Given the description of an element on the screen output the (x, y) to click on. 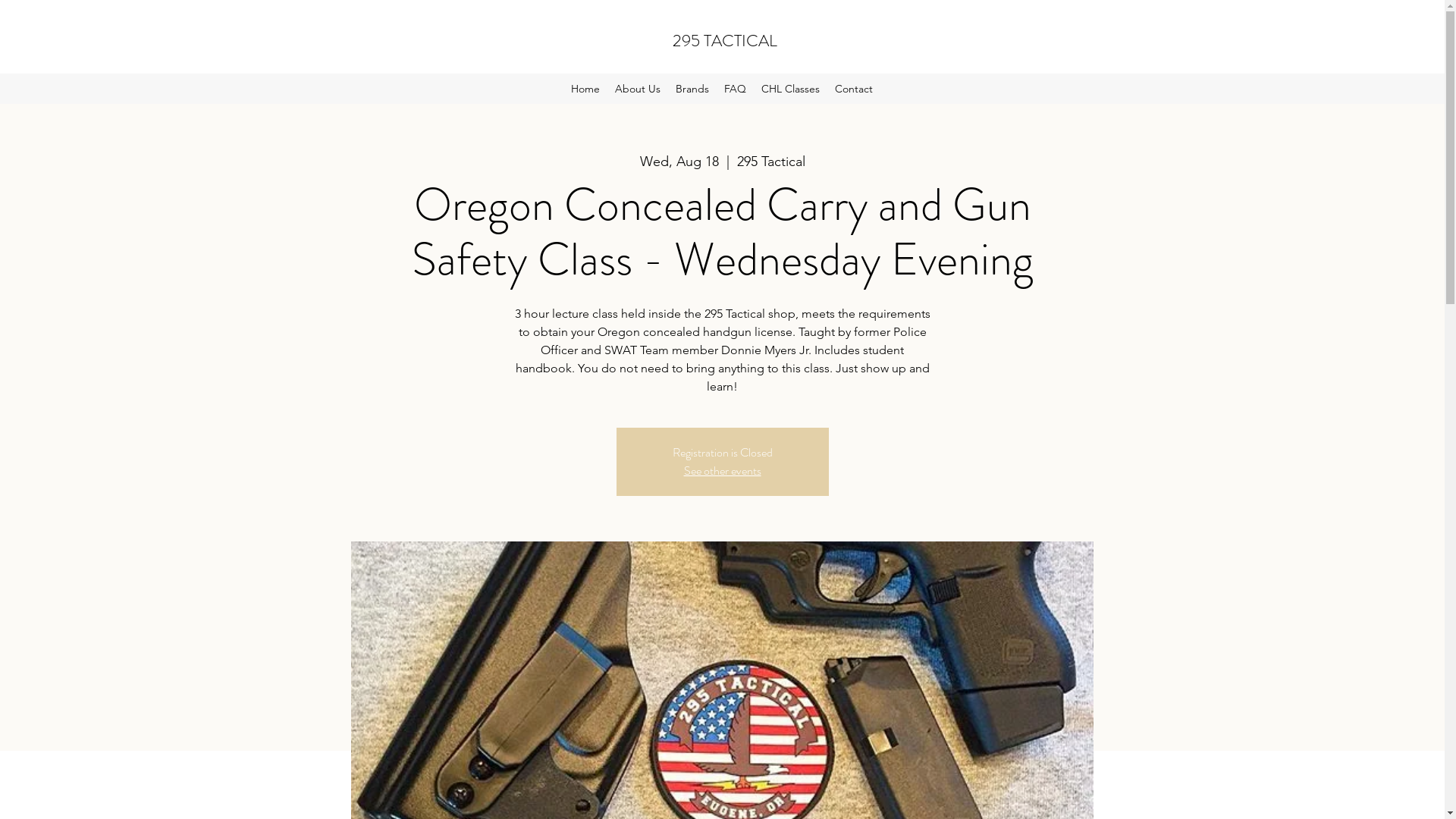
Contact Element type: text (853, 88)
Brands Element type: text (692, 88)
See other events Element type: text (722, 470)
Home Element type: text (585, 88)
FAQ Element type: text (734, 88)
295 TACTICAL Element type: text (724, 40)
About Us Element type: text (637, 88)
CHL Classes Element type: text (790, 88)
